Given the description of an element on the screen output the (x, y) to click on. 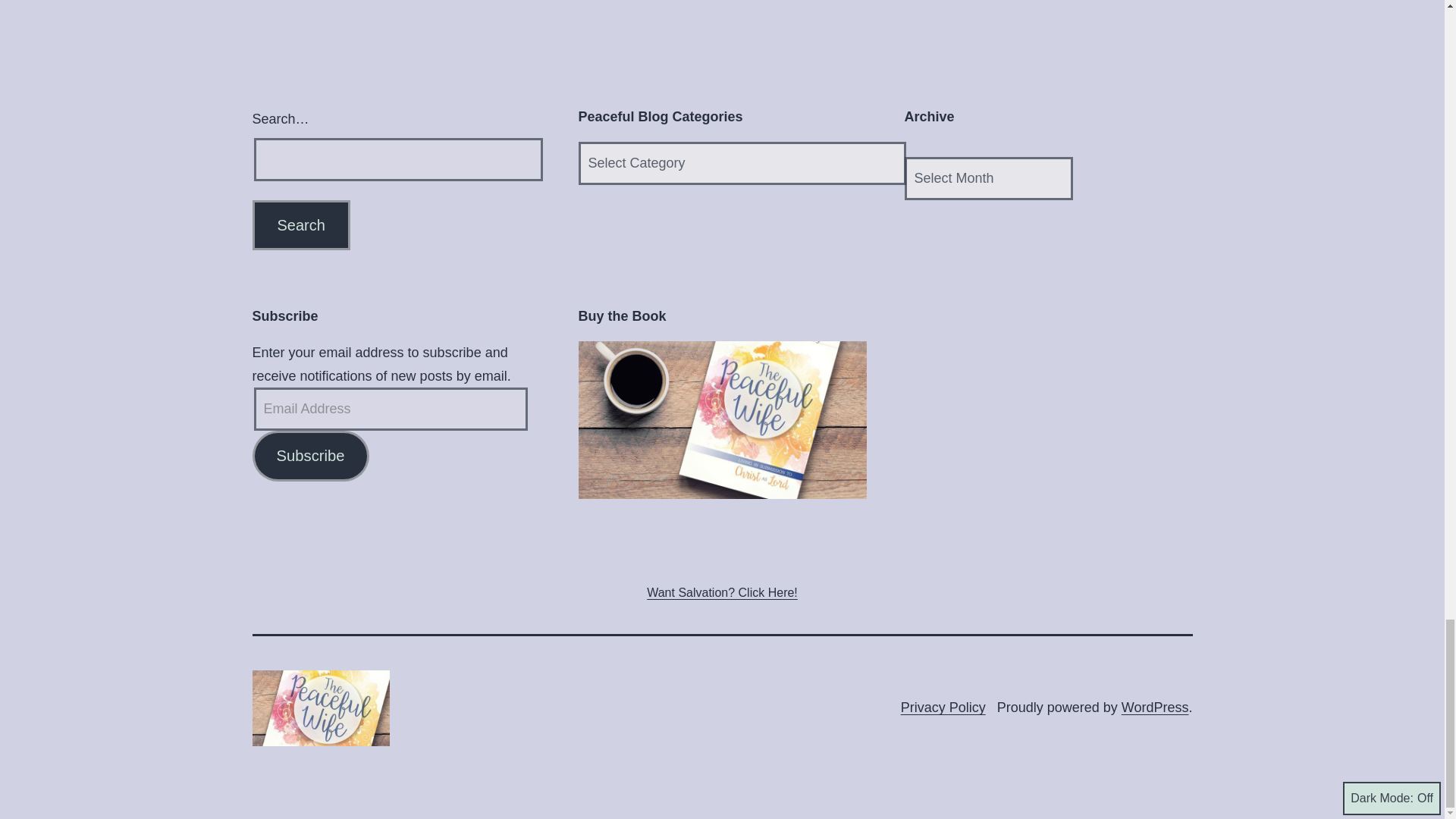
Want Salvation? Click Here! (722, 591)
Search (300, 224)
Search (300, 224)
Search (300, 224)
Privacy Policy (943, 707)
WordPress (1155, 707)
Subscribe (309, 455)
